Given the description of an element on the screen output the (x, y) to click on. 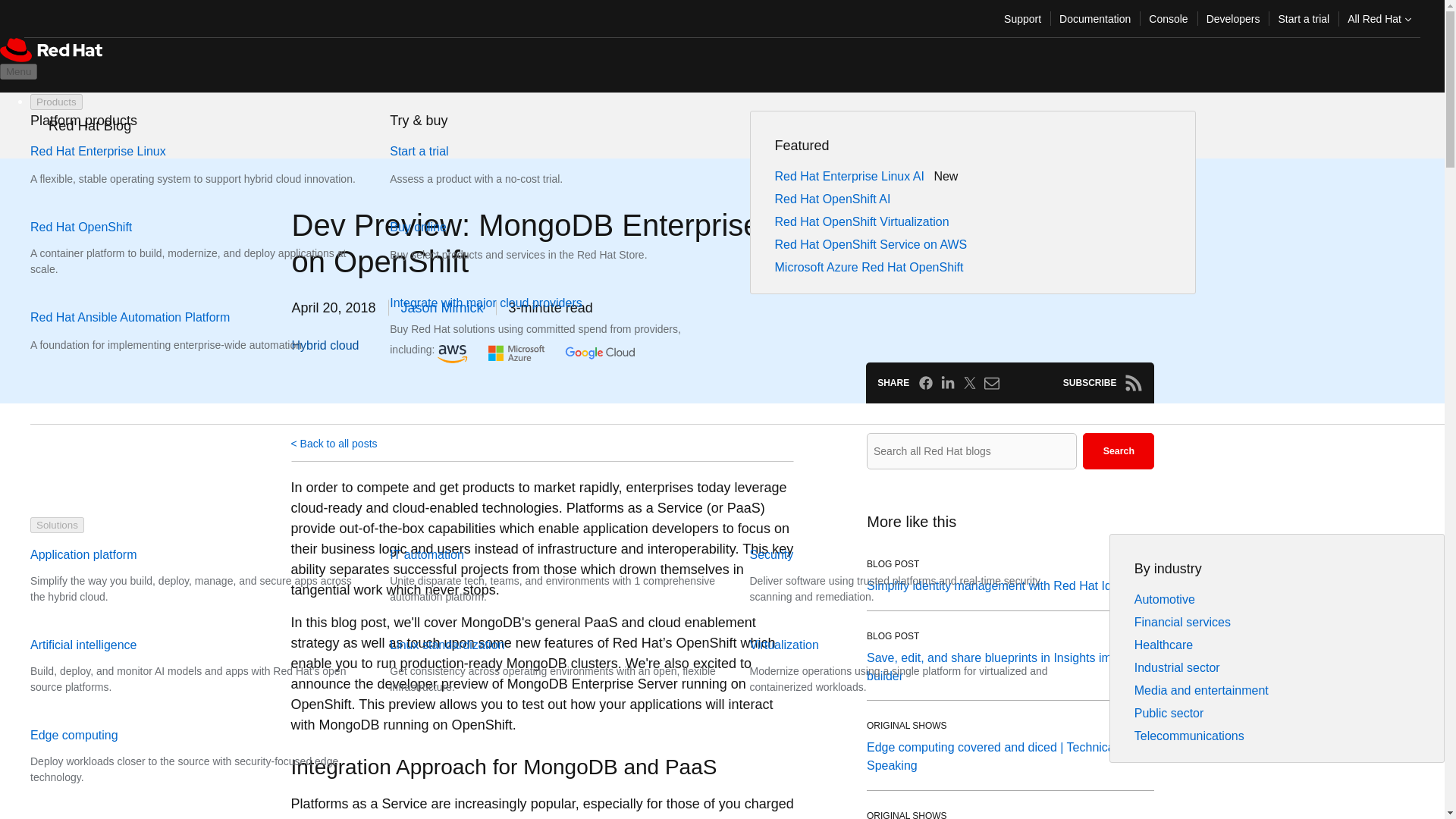
Support (1021, 18)
Start a trial (1303, 18)
See more by Jason Mimick (442, 307)
All Red Hat (1379, 18)
Start a trialAssess a product with a no-cost trial. (505, 165)
Subscribe (1132, 382)
Documentation (1094, 18)
Console (1168, 18)
